Given the description of an element on the screen output the (x, y) to click on. 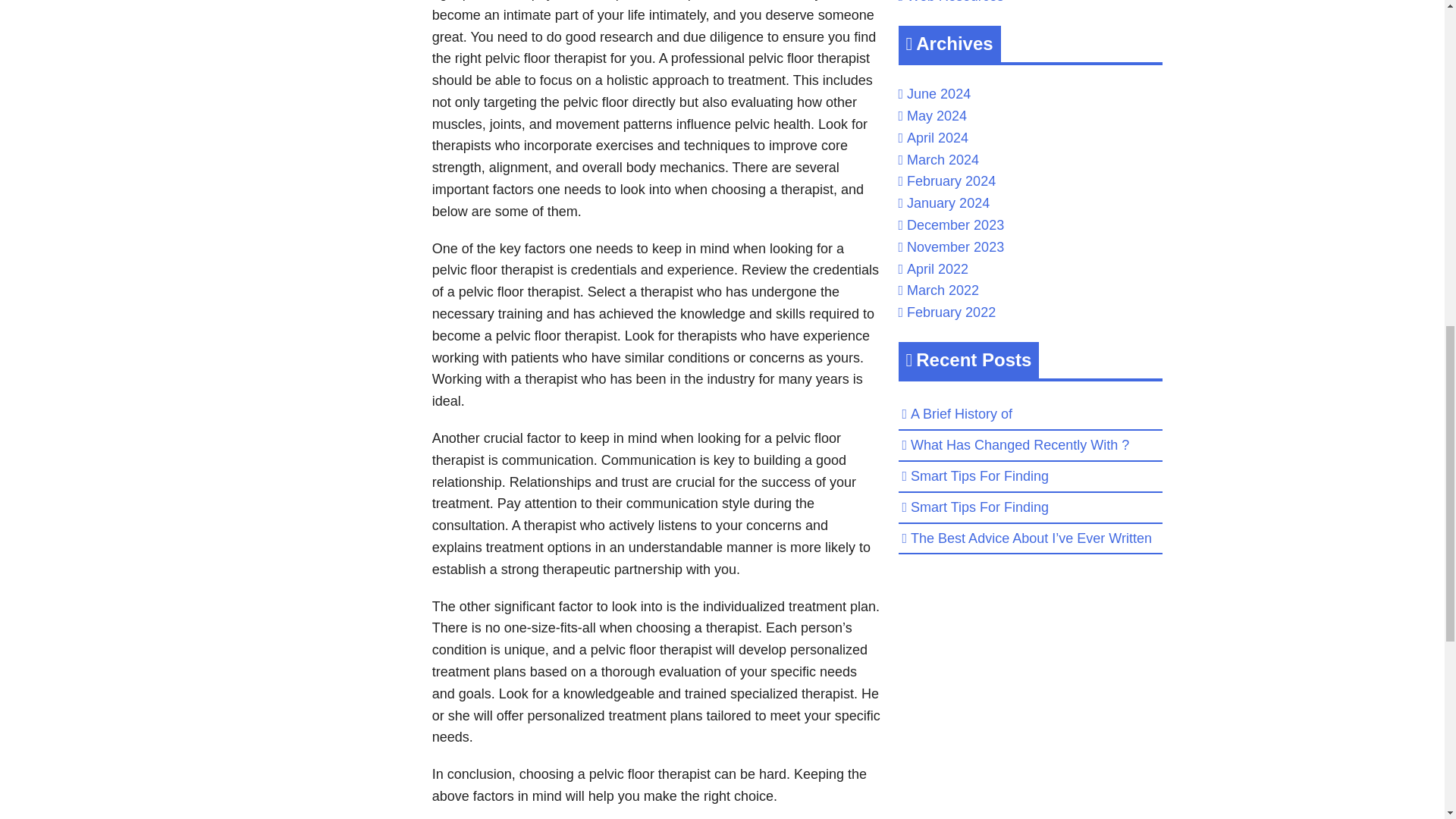
Web Resources (955, 2)
